Given the description of an element on the screen output the (x, y) to click on. 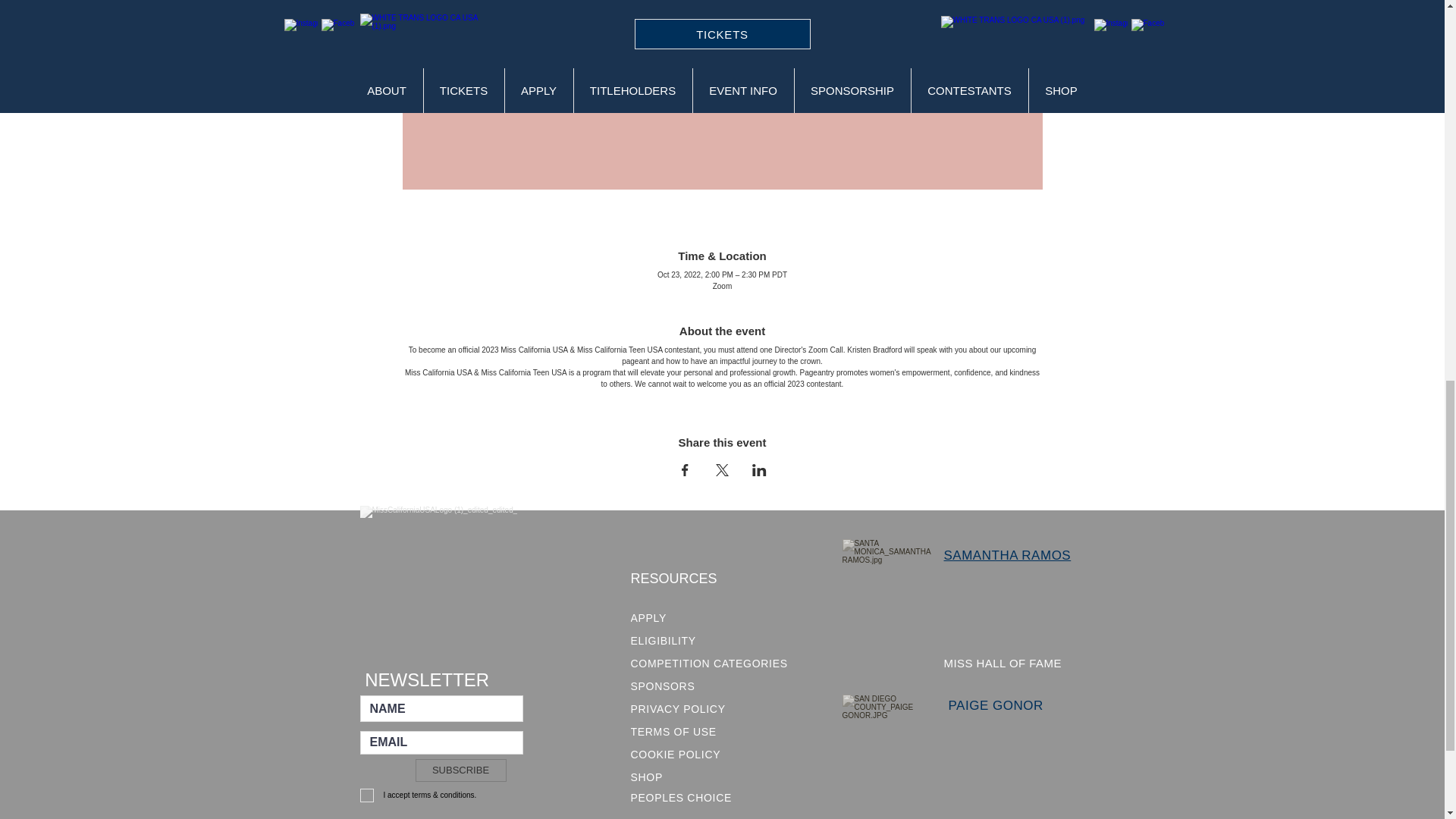
PEOPLES CHOICE (684, 797)
SPONSORS (684, 685)
TERMS OF USE (684, 731)
PRIVACY POLICY (684, 708)
ELIGIBILITY (713, 640)
COMPETITION CATEGORIES (713, 662)
COOKIE POLICY (684, 753)
APPLY (713, 617)
SHOP (684, 776)
SUBSCRIBE (460, 770)
